Given the description of an element on the screen output the (x, y) to click on. 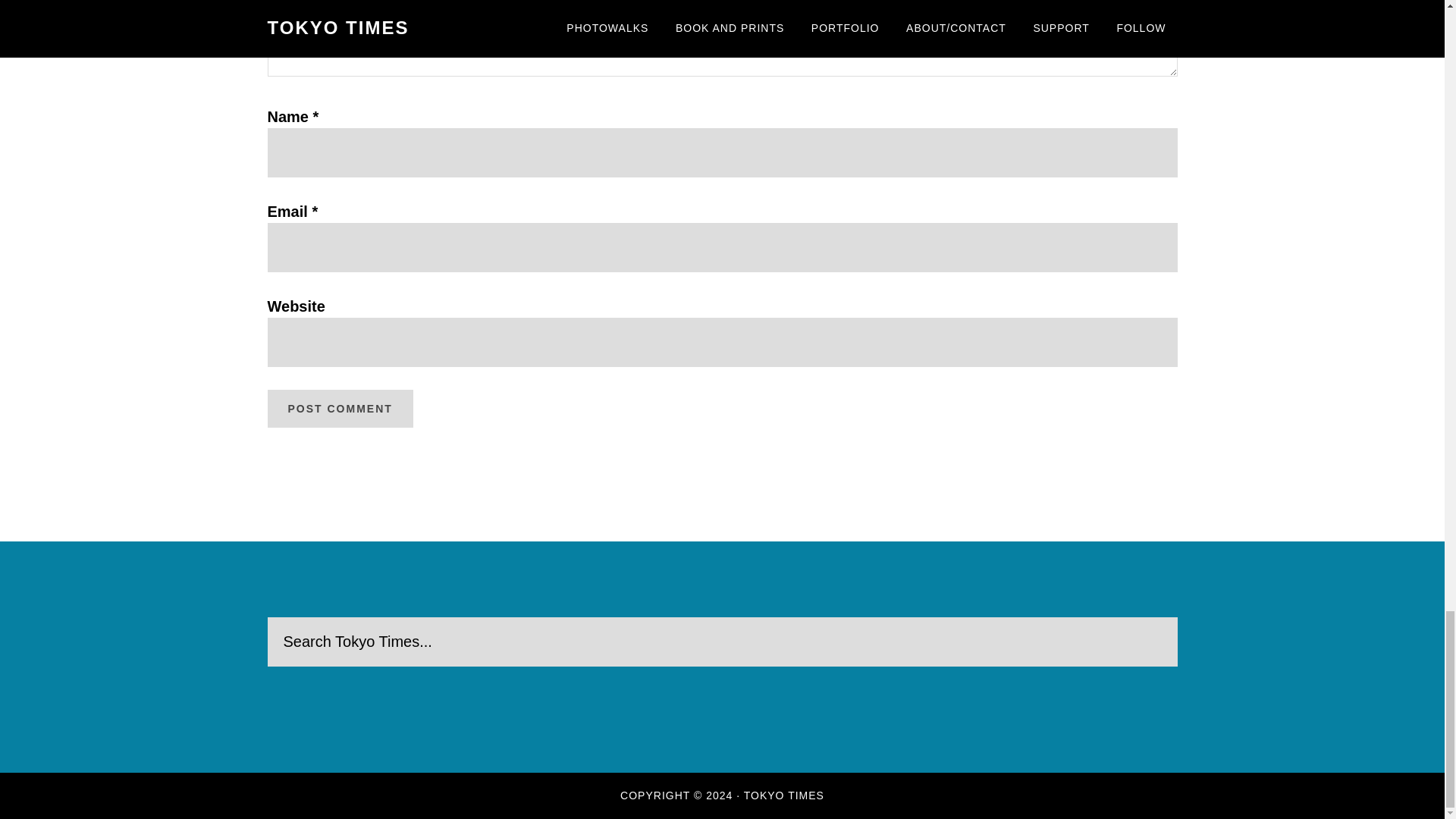
Post Comment (339, 408)
Post Comment (339, 408)
TOKYO TIMES (784, 795)
